Given the description of an element on the screen output the (x, y) to click on. 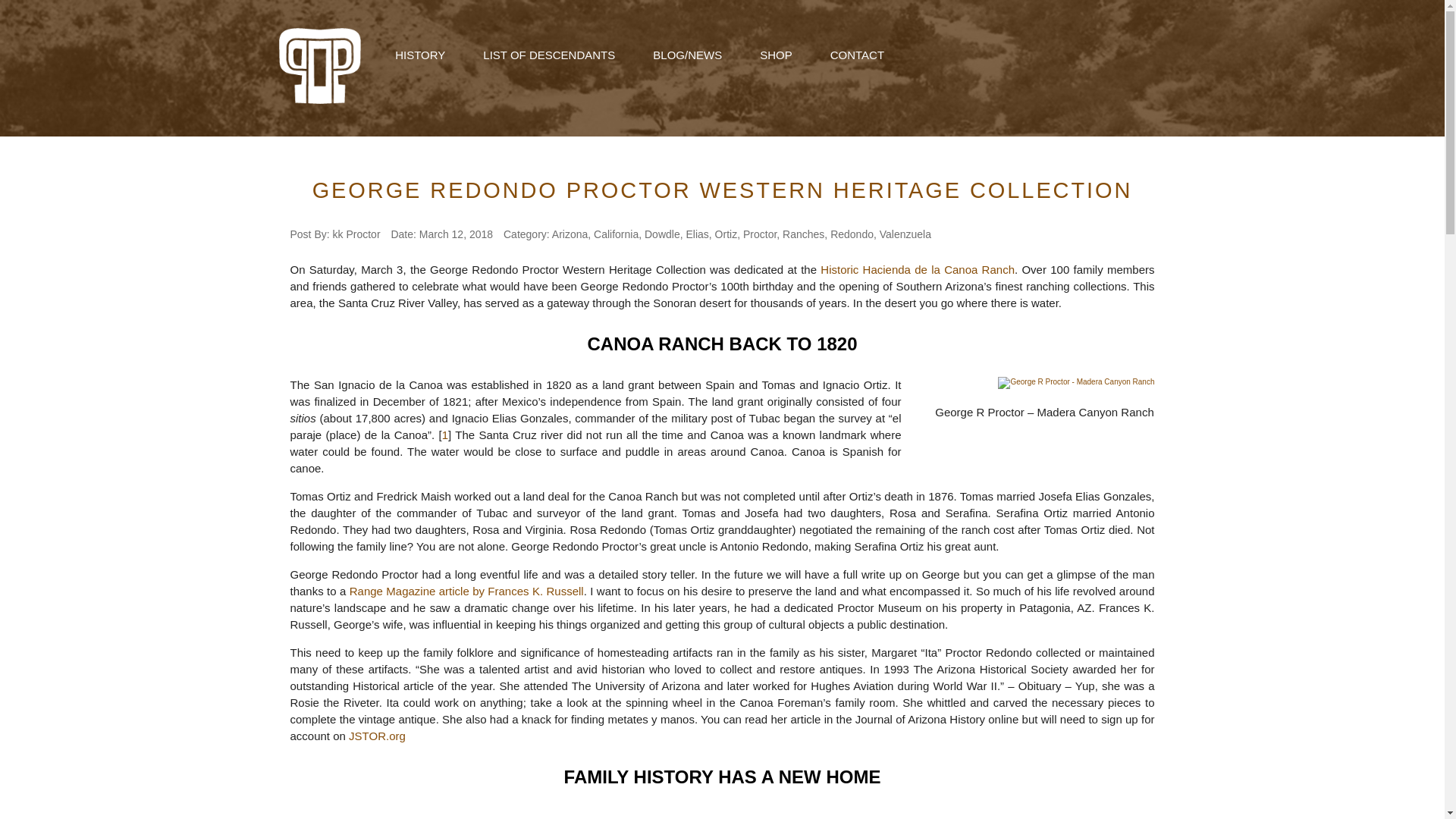
Ortiz (726, 234)
JSTOR.org (377, 735)
kk Proctor (356, 234)
GEORGE REDONDO PROCTOR WESTERN HERITAGE COLLECTION (722, 190)
LIST OF DESCENDANTS (548, 54)
Elias (696, 234)
Proctor (759, 234)
Valenzuela (905, 234)
CONTACT (856, 54)
SHOP (775, 54)
